Given the description of an element on the screen output the (x, y) to click on. 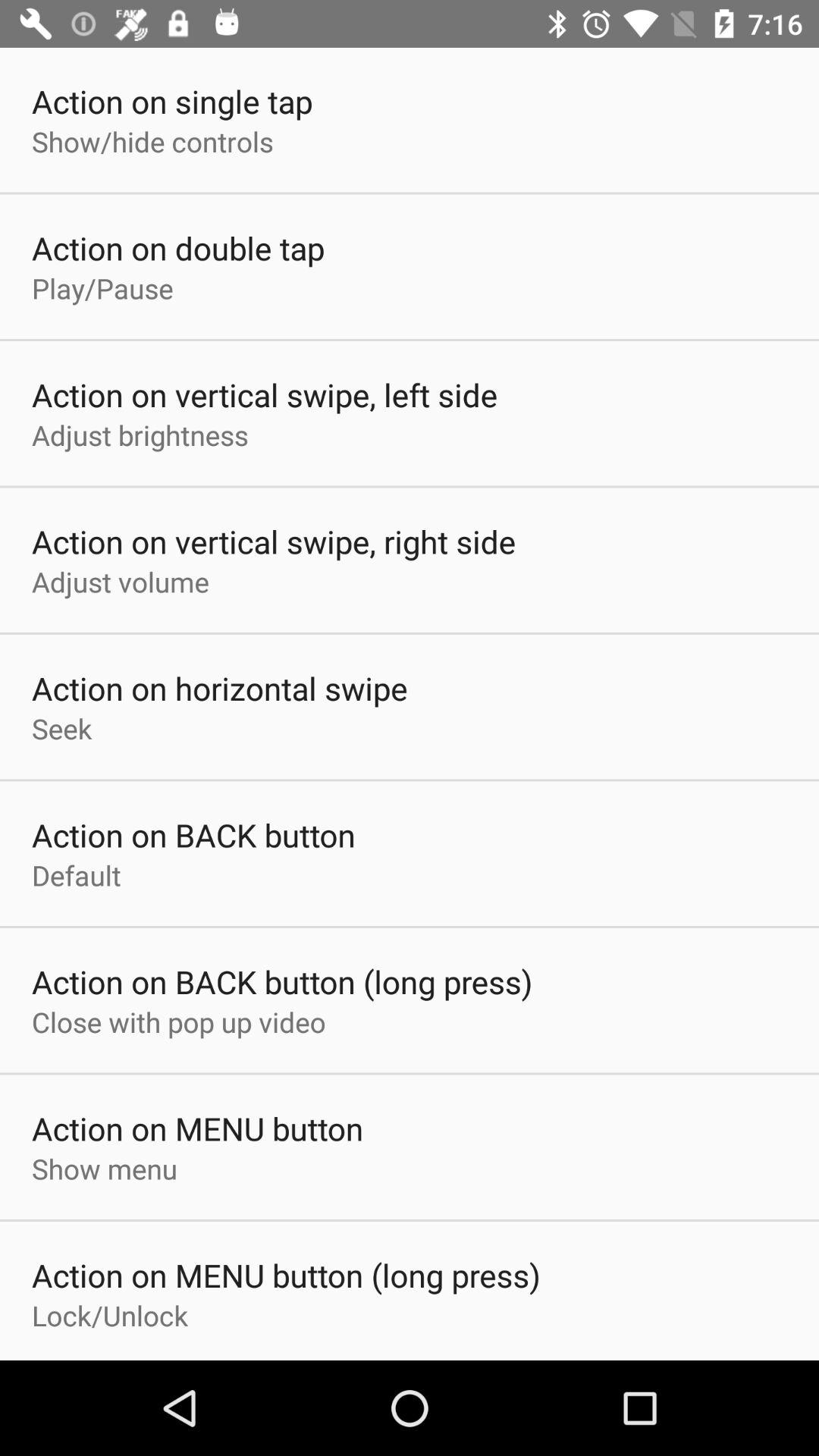
click the app below action on back (76, 875)
